Given the description of an element on the screen output the (x, y) to click on. 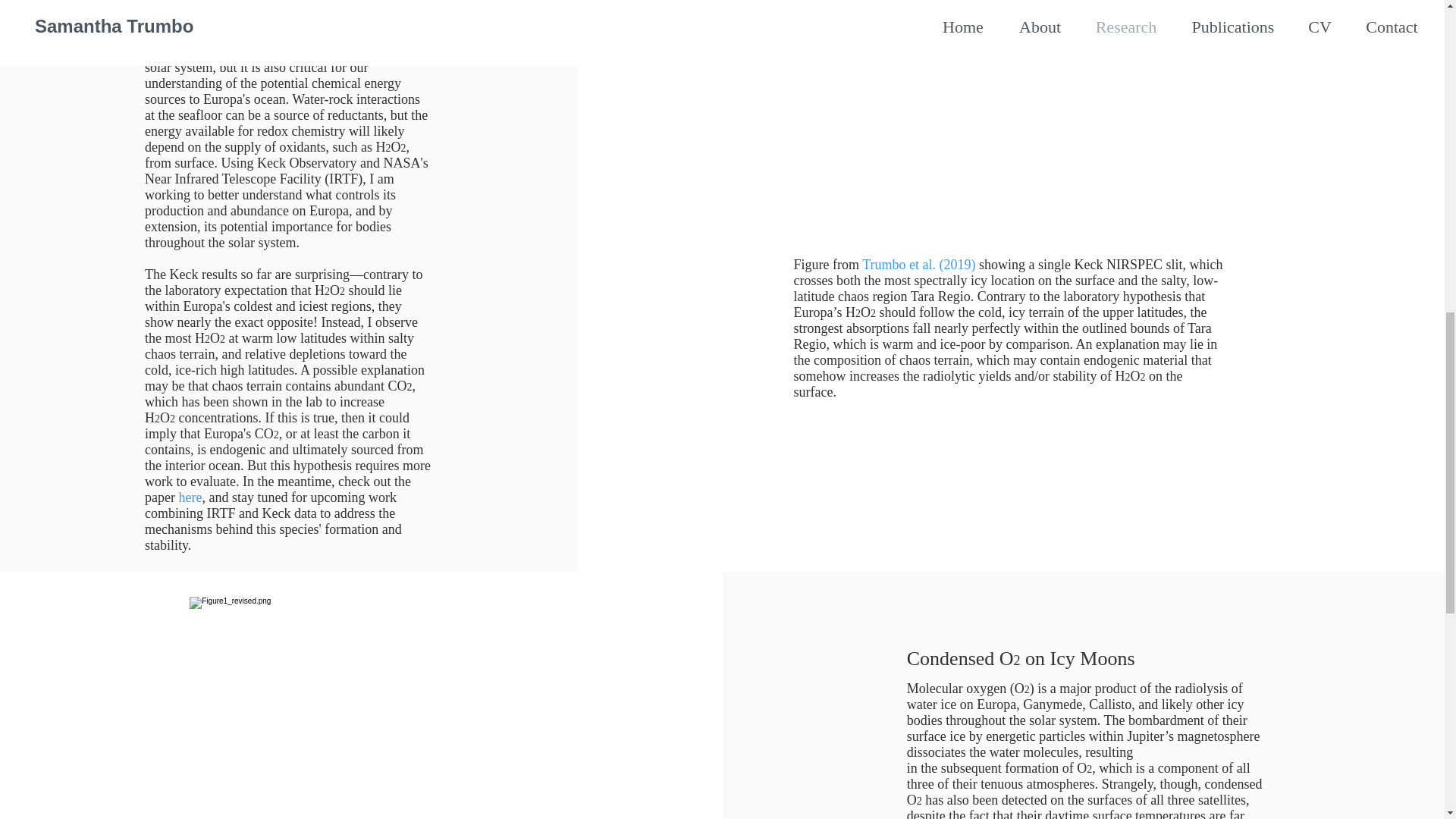
here (189, 497)
